Given the description of an element on the screen output the (x, y) to click on. 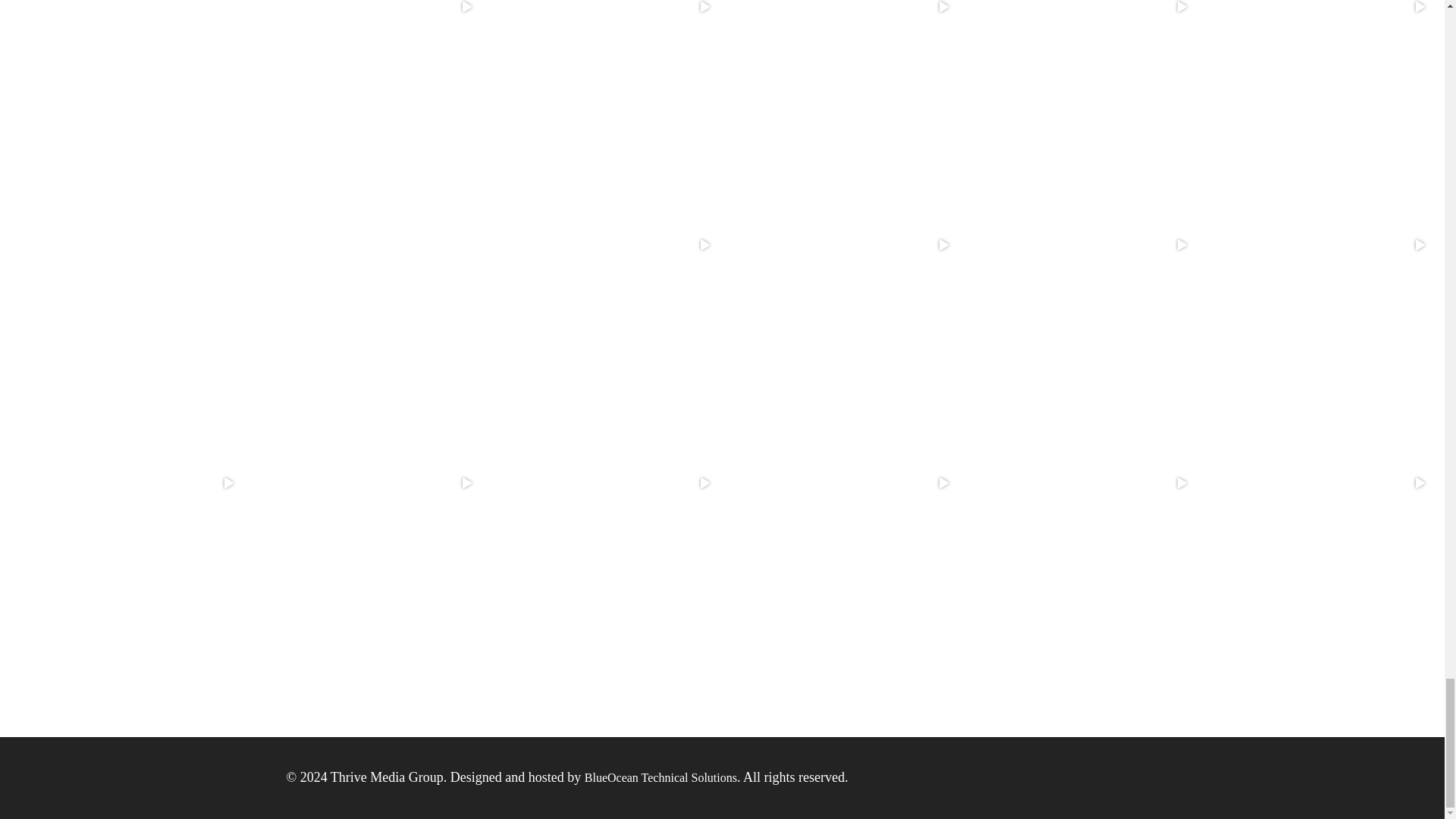
BlueOcean Technical Solutions (660, 777)
